Given the description of an element on the screen output the (x, y) to click on. 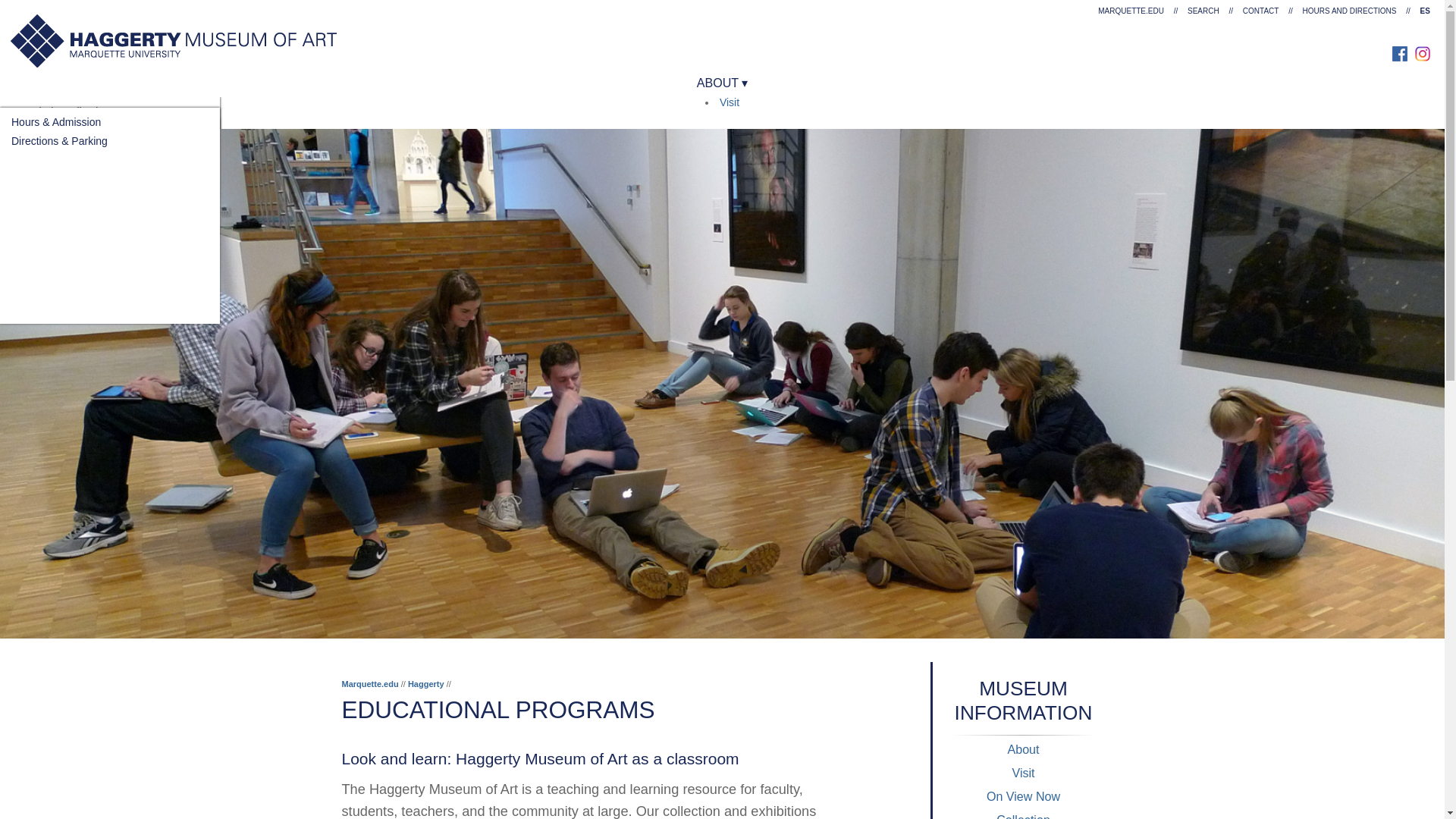
Give (25, 112)
Podcast Series (46, 215)
On View Now (43, 101)
Gifts of Art (36, 188)
Online Experiences (57, 196)
Faculty (28, 121)
Community Blog (49, 234)
Newsletter Signup (54, 162)
Past Exhibitions (49, 137)
University Students (57, 141)
Visit (729, 102)
Upcoming Exhibitions (62, 119)
University Students (57, 141)
Public (87, 177)
Exhibition Policy (49, 156)
